Given the description of an element on the screen output the (x, y) to click on. 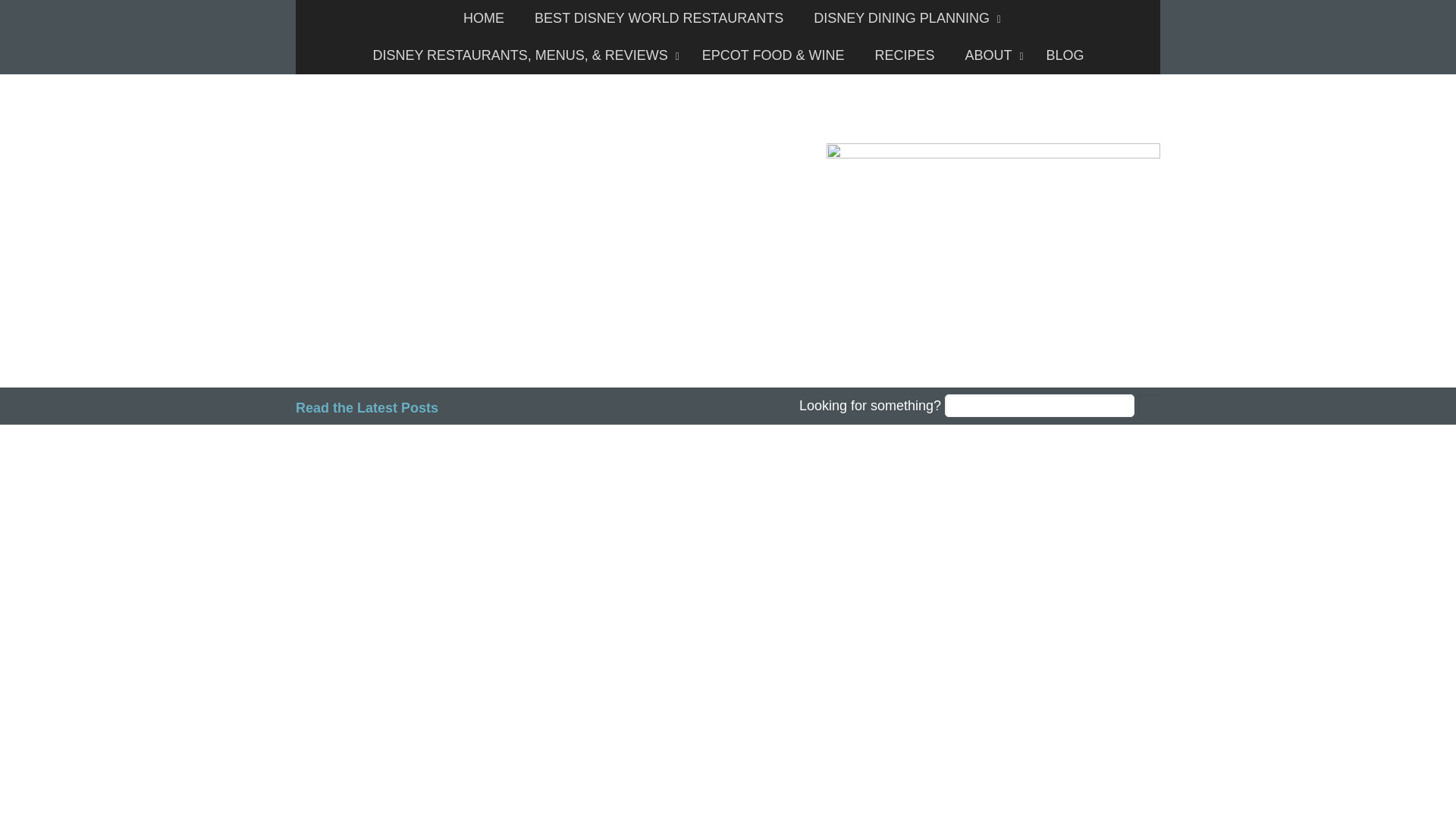
DISNEY DINING PLANNING (903, 18)
BEST DISNEY WORLD RESTAURANTS (658, 18)
HOME (483, 18)
